Given the description of an element on the screen output the (x, y) to click on. 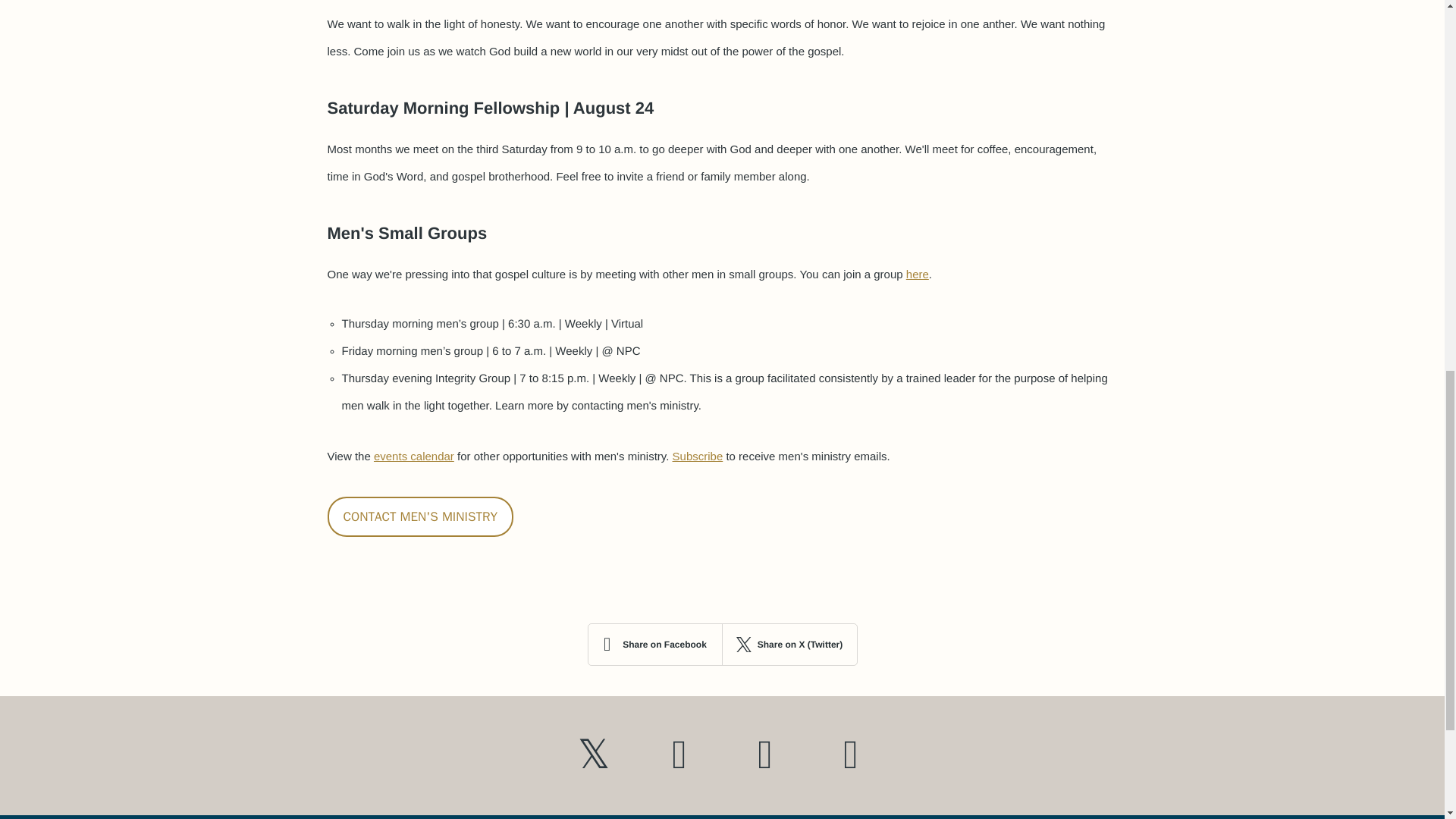
facebook (850, 755)
instagram (764, 755)
twitter (592, 755)
youtube (679, 755)
